Given the description of an element on the screen output the (x, y) to click on. 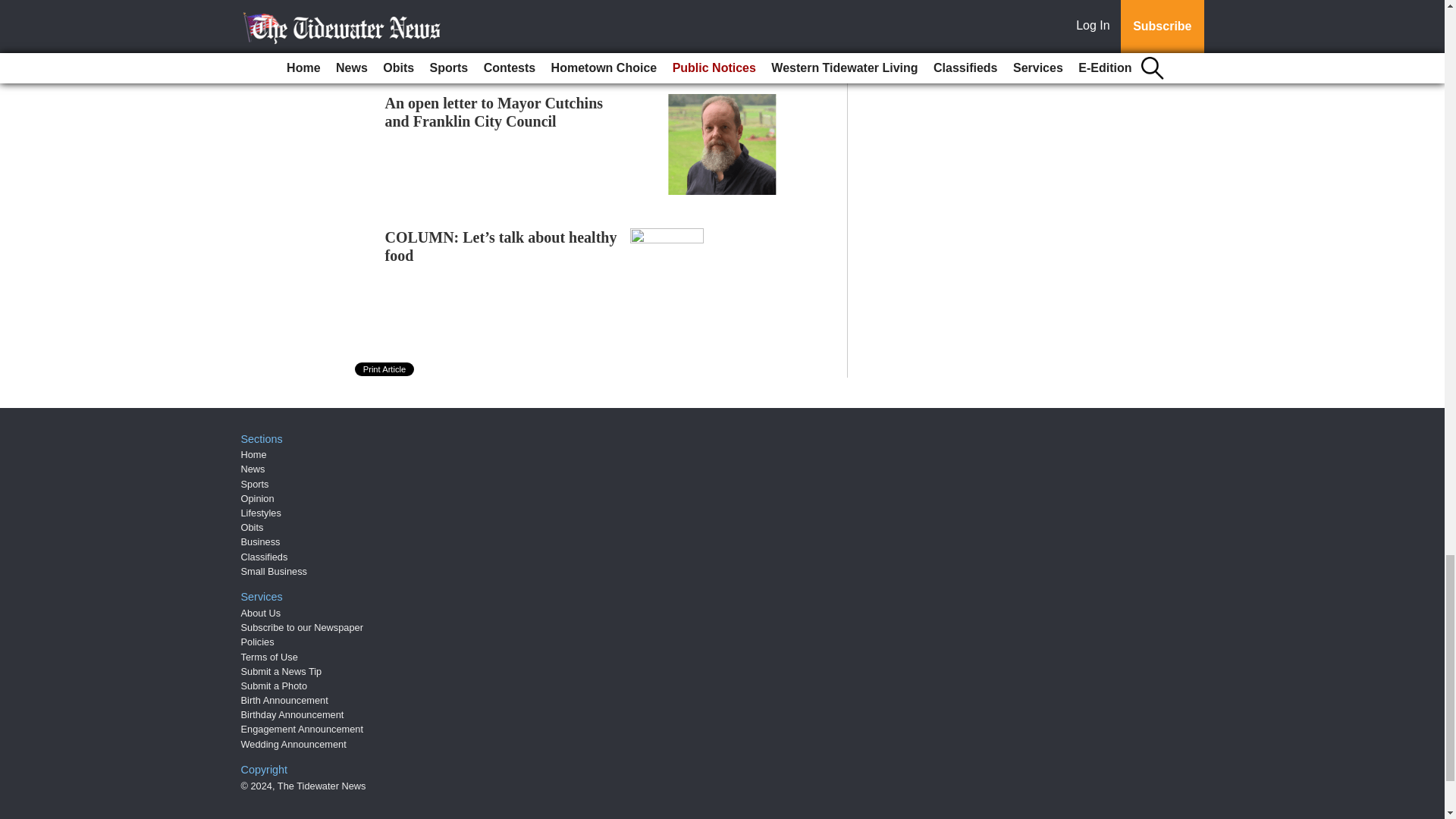
An open letter to Mayor Cutchins and Franklin City Council (494, 112)
